Given the description of an element on the screen output the (x, y) to click on. 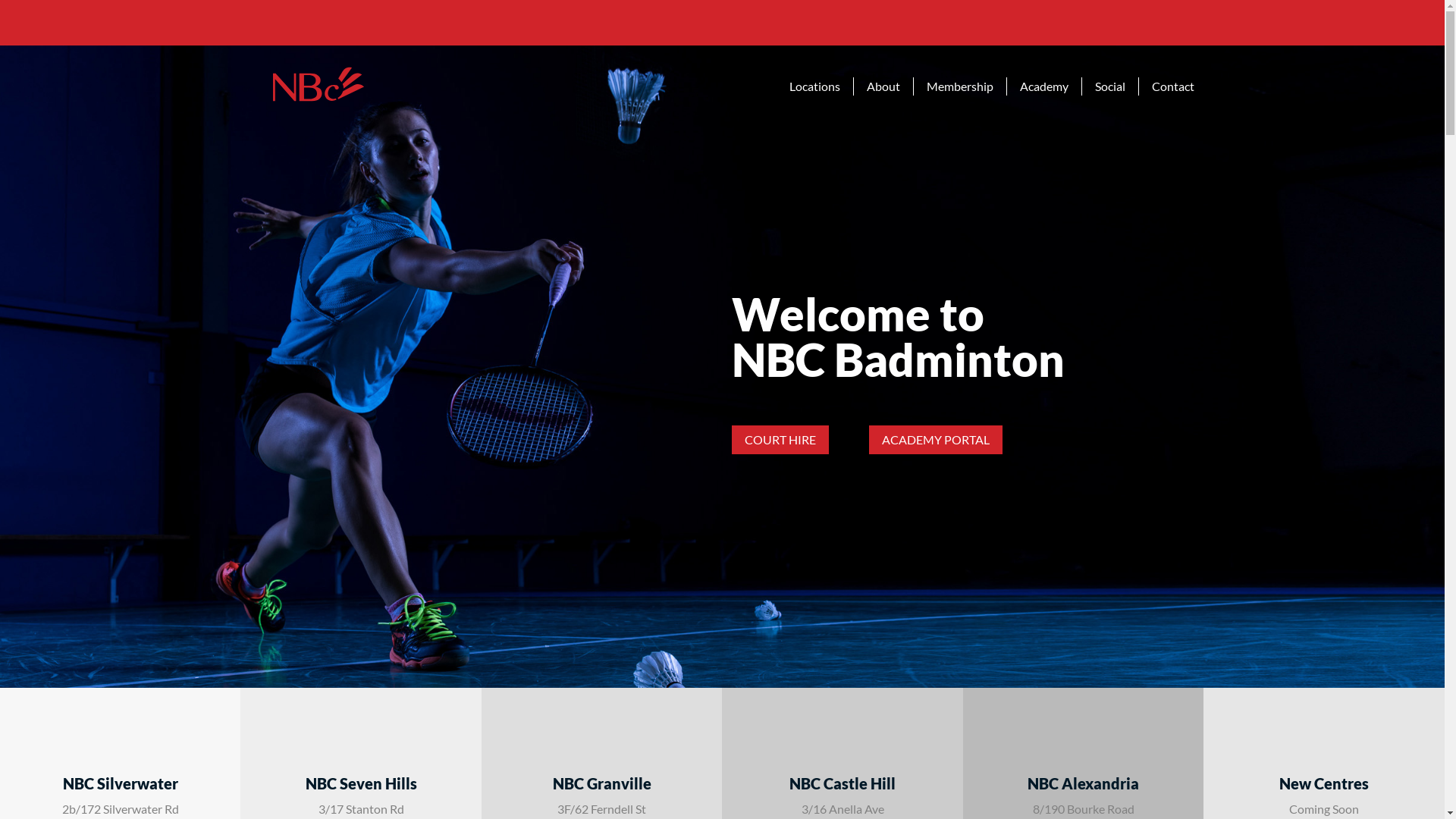
Locations Element type: text (814, 86)
Academy Element type: text (1044, 86)
Social Element type: text (1110, 86)
Membership Element type: text (960, 86)
ACADEMY PORTAL Element type: text (935, 439)
About Element type: text (883, 86)
Contact Element type: text (1166, 86)
COURT HIRE Element type: text (779, 439)
